Given the description of an element on the screen output the (x, y) to click on. 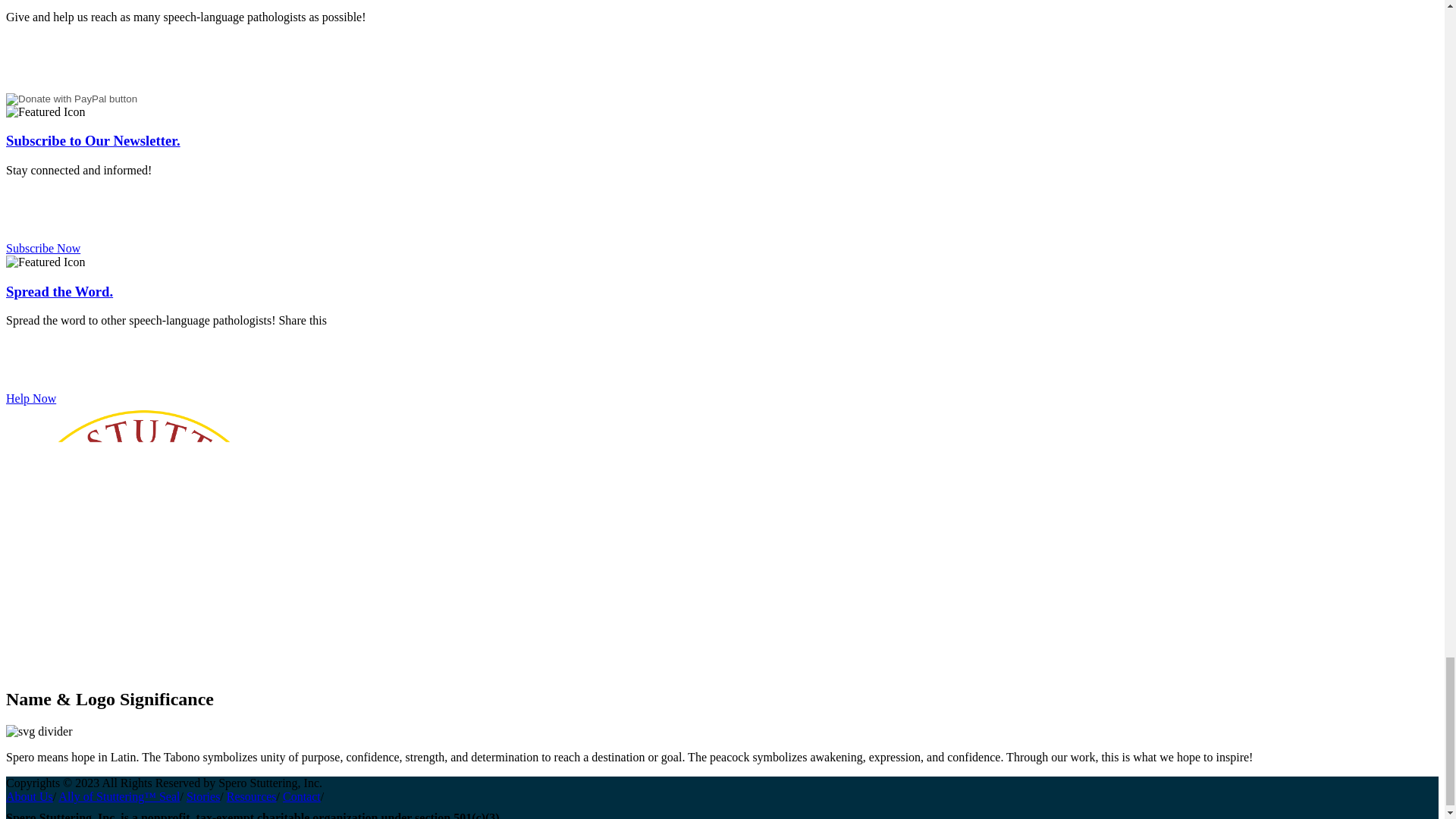
Subscribe Now (42, 247)
Stories (202, 796)
Subscribe to Our Newsletter. (92, 140)
Spread the Word. (59, 291)
About Us (28, 796)
Contact (301, 796)
Resources (251, 796)
PayPal - The safer, easier way to pay online! (70, 99)
Help Now (30, 398)
